Given the description of an element on the screen output the (x, y) to click on. 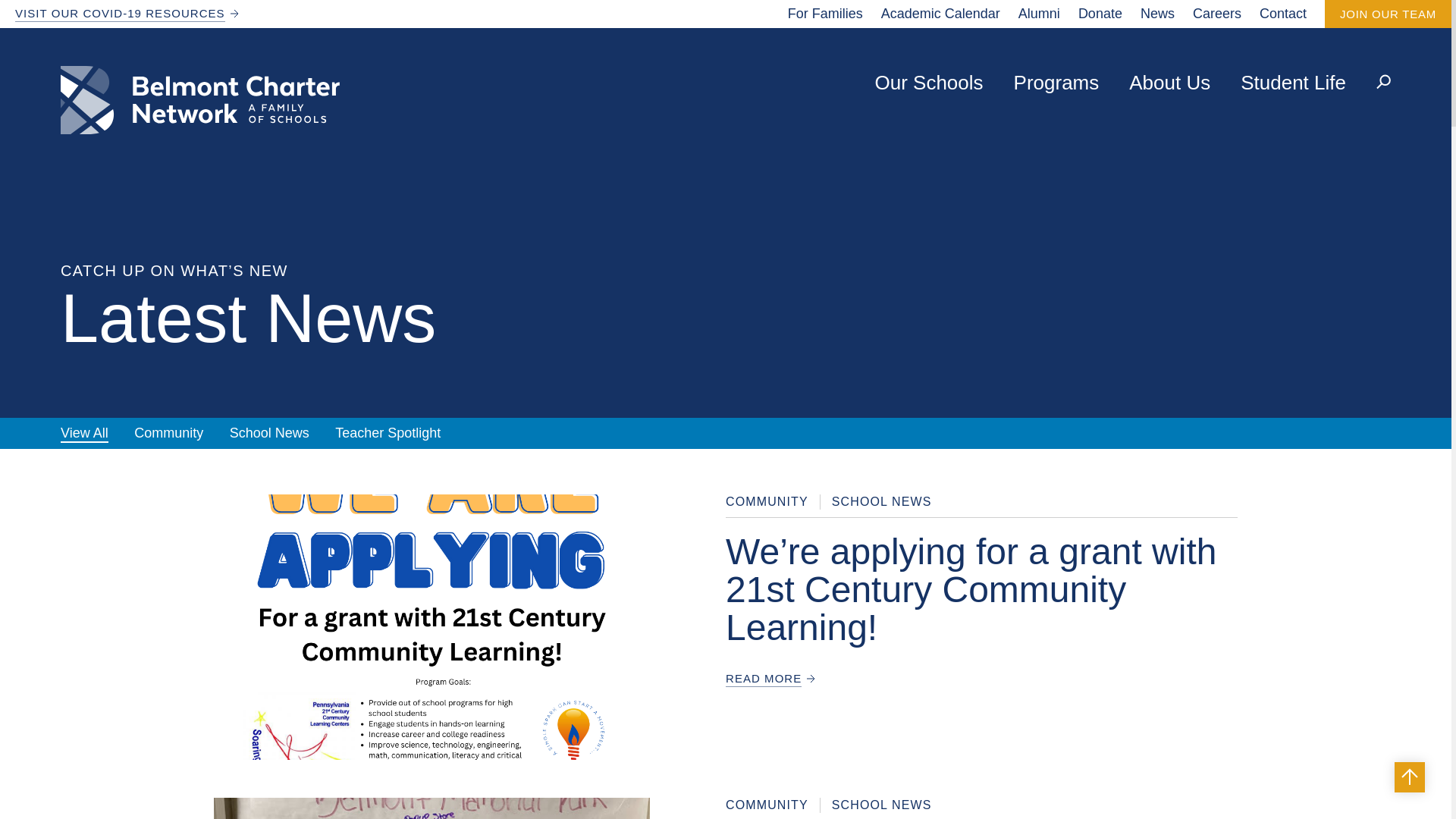
Donate (1100, 13)
News (1157, 13)
VISIT OUR COVID-19 RESOURCES (119, 13)
Alumni (1038, 13)
Careers (1216, 13)
Our Schools (928, 83)
About Us (1169, 83)
Student Life (1292, 83)
Submit (1352, 3)
For Families (825, 13)
Programs (1056, 83)
Academic Calendar (940, 13)
Contact (1282, 13)
